Given the description of an element on the screen output the (x, y) to click on. 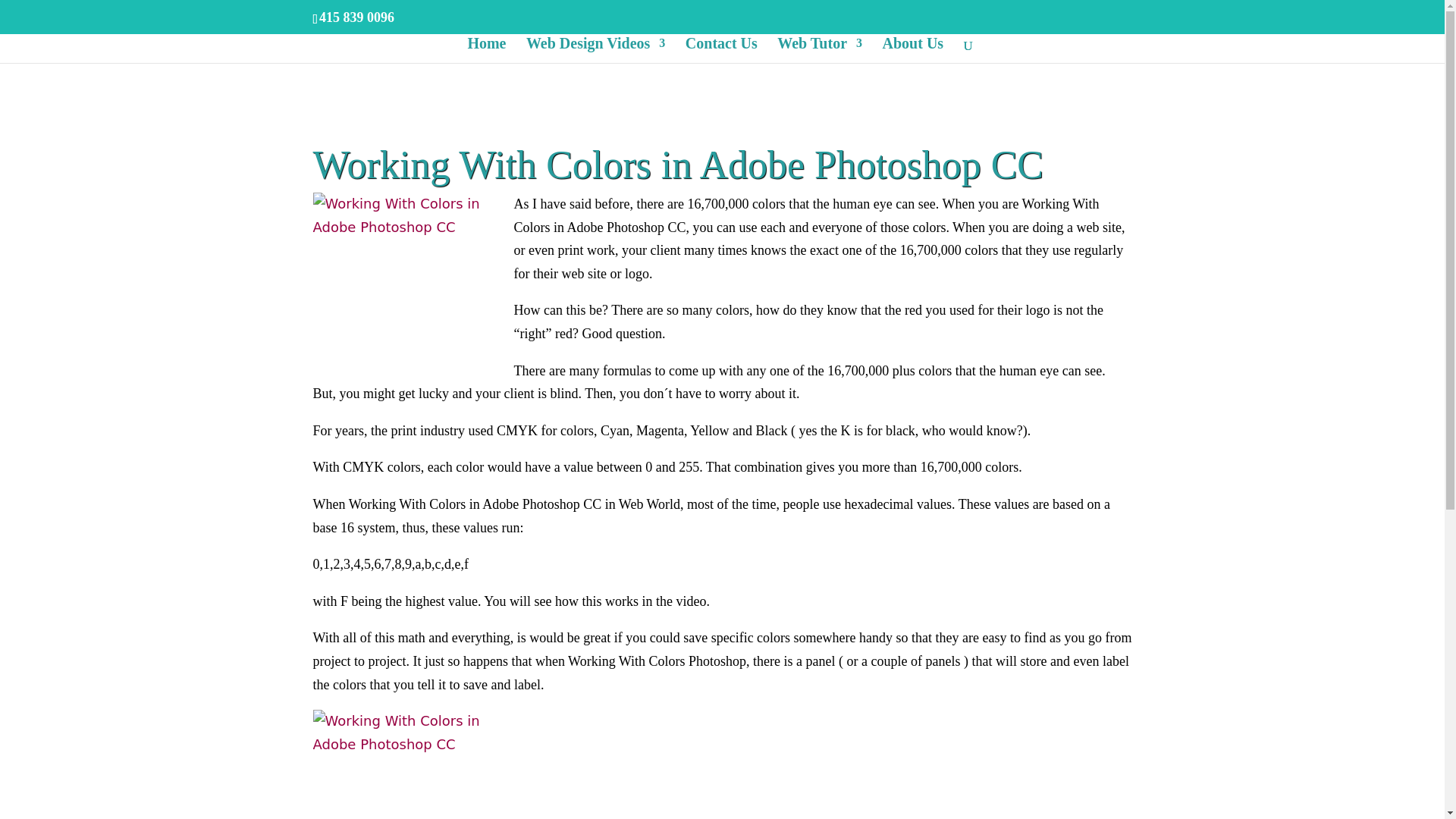
Web Tutor (819, 50)
Home (486, 50)
About Us (912, 50)
Contact Us (721, 50)
Web Design Videos (595, 50)
